Given the description of an element on the screen output the (x, y) to click on. 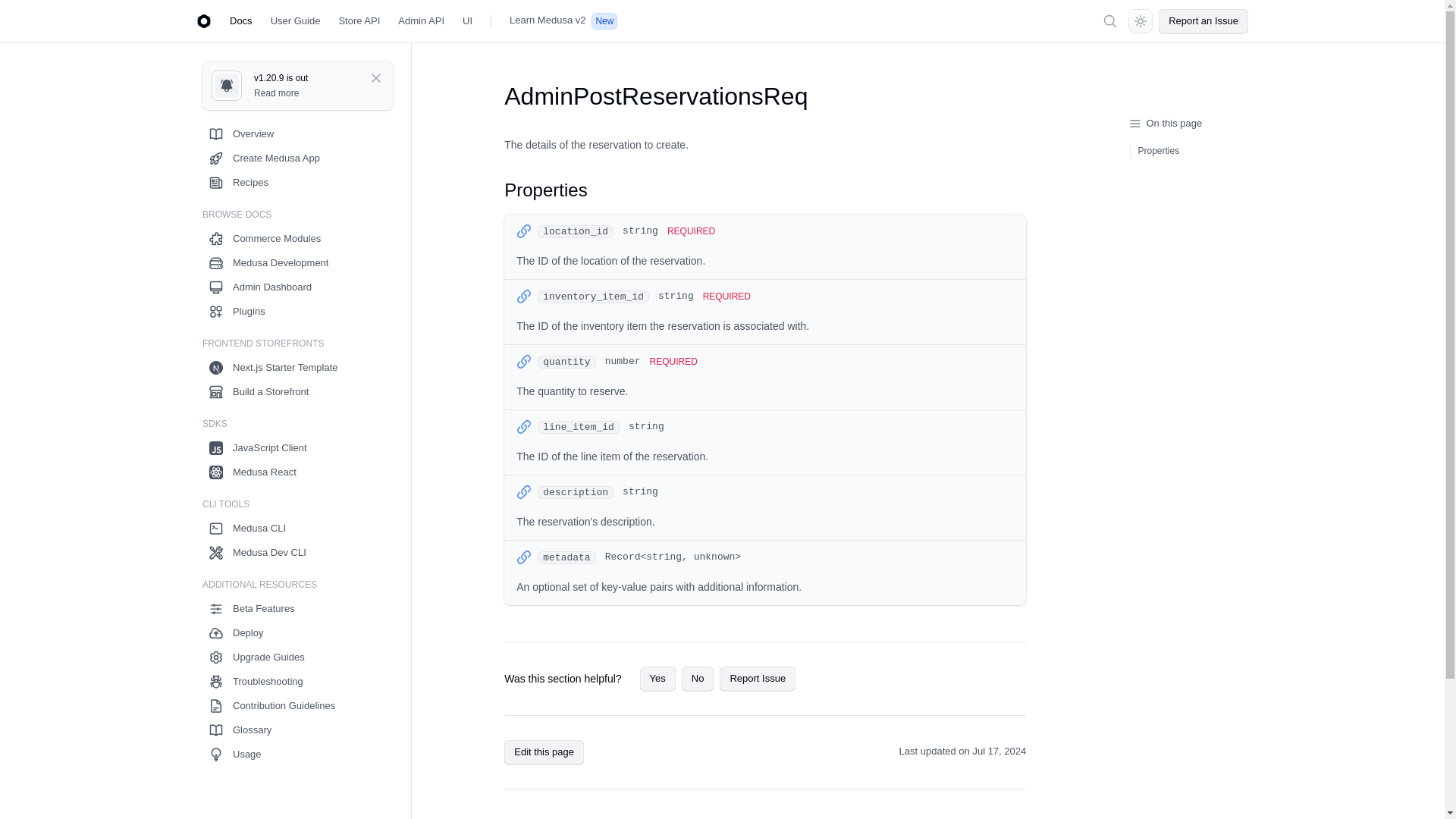
Deploy (291, 632)
Upgrade Guides (291, 657)
User Guide (295, 20)
Build a Storefront (291, 392)
Create Medusa App (291, 158)
JavaScript Client (291, 447)
Plugins (291, 311)
Overview (291, 134)
Commerce Modules (291, 238)
Admin API (420, 20)
Docs (240, 20)
Contribution Guidelines (291, 705)
Beta Features (291, 608)
Next.js Starter Template (291, 367)
Report an Issue (1202, 21)
